Given the description of an element on the screen output the (x, y) to click on. 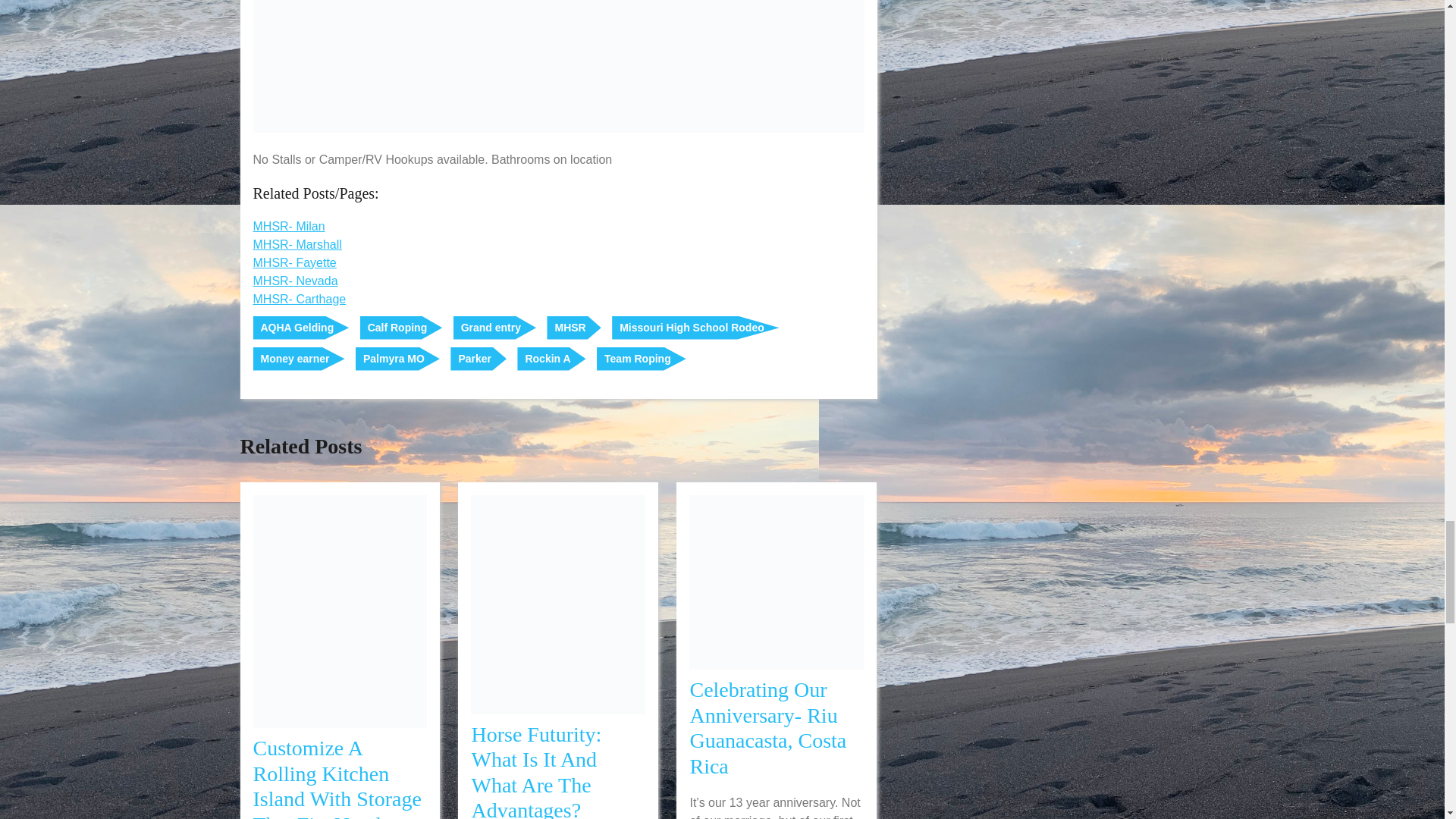
Horse Futurity: What is it and what are the advantages? (535, 770)
Celebrating Our Anniversary- Riu Guanacasta, Costa Rica (766, 728)
